Given the description of an element on the screen output the (x, y) to click on. 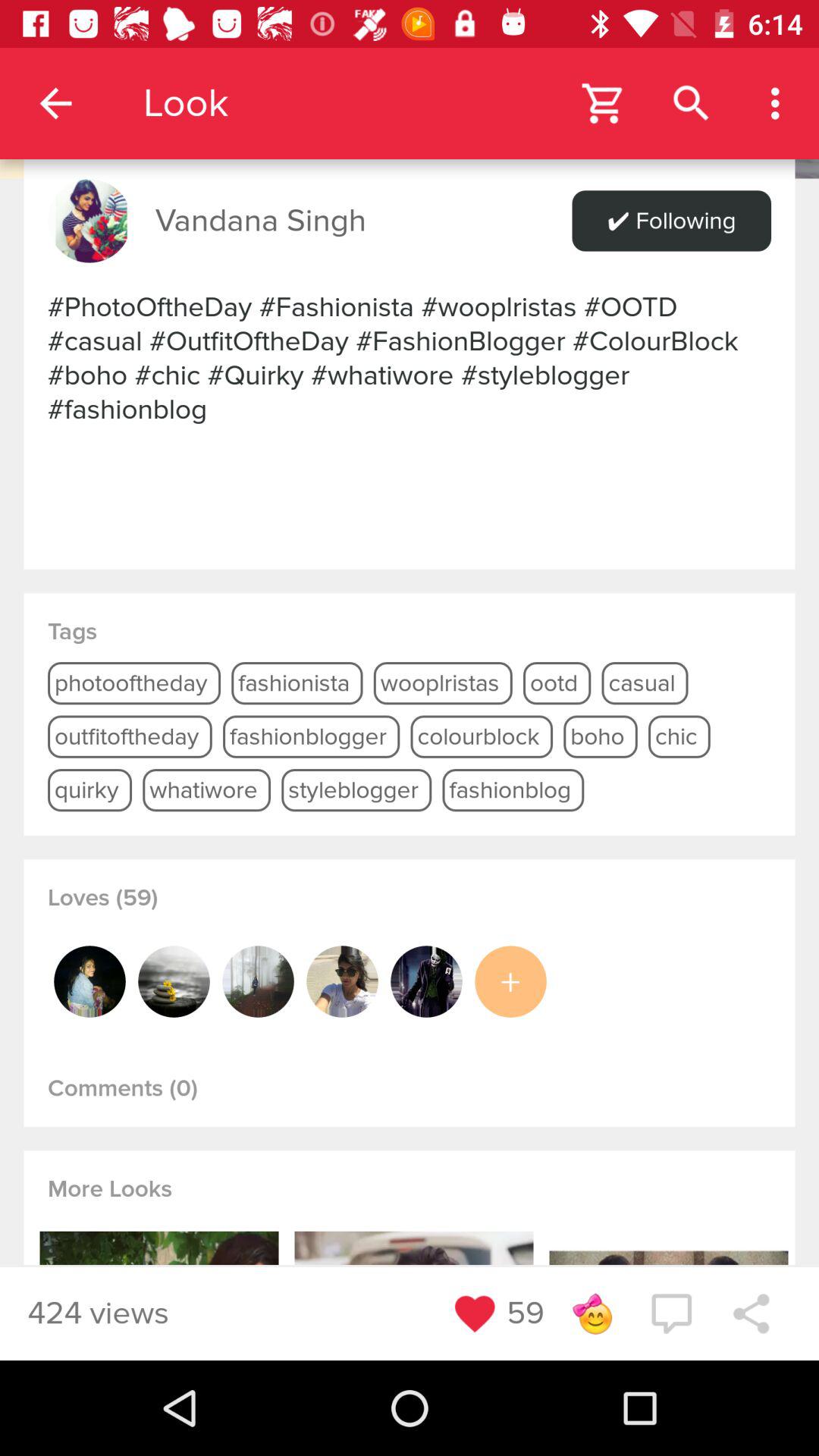
tap the item above tags item (409, 358)
